Given the description of an element on the screen output the (x, y) to click on. 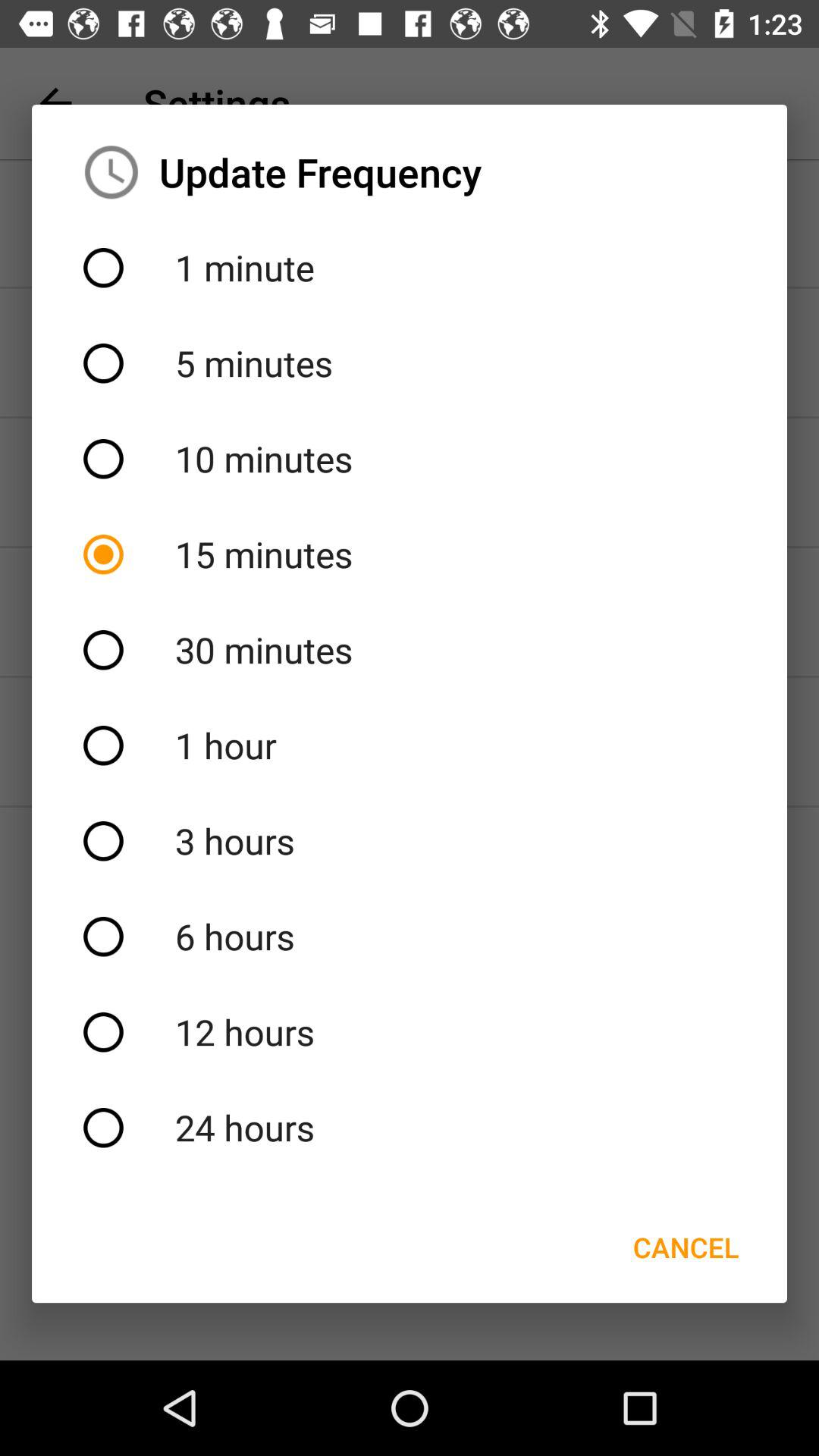
choose icon above the 6 hours item (409, 840)
